Given the description of an element on the screen output the (x, y) to click on. 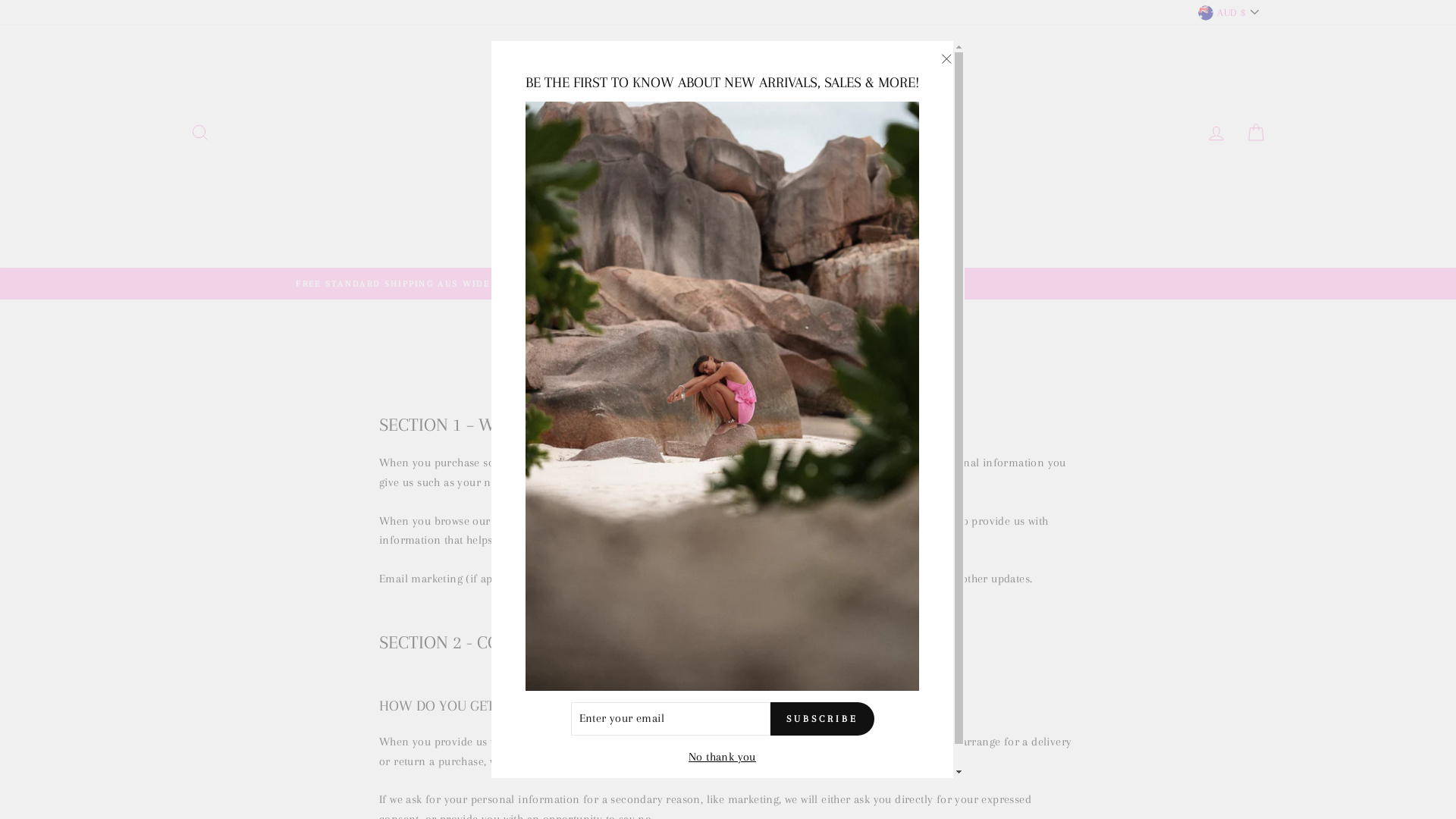
SEARCH Element type: text (199, 132)
Skip to content Element type: text (0, 0)
CART Element type: text (1255, 132)
LOG IN Element type: text (1216, 132)
SLOW SUNDAYS Element type: text (674, 238)
No thank you Element type: text (722, 757)
AUD $ Element type: text (1227, 12)
REBRAND SALE Element type: text (782, 238)
"Close (esc)" Element type: text (946, 58)
SUBSCRIBE Element type: text (821, 718)
